Given the description of an element on the screen output the (x, y) to click on. 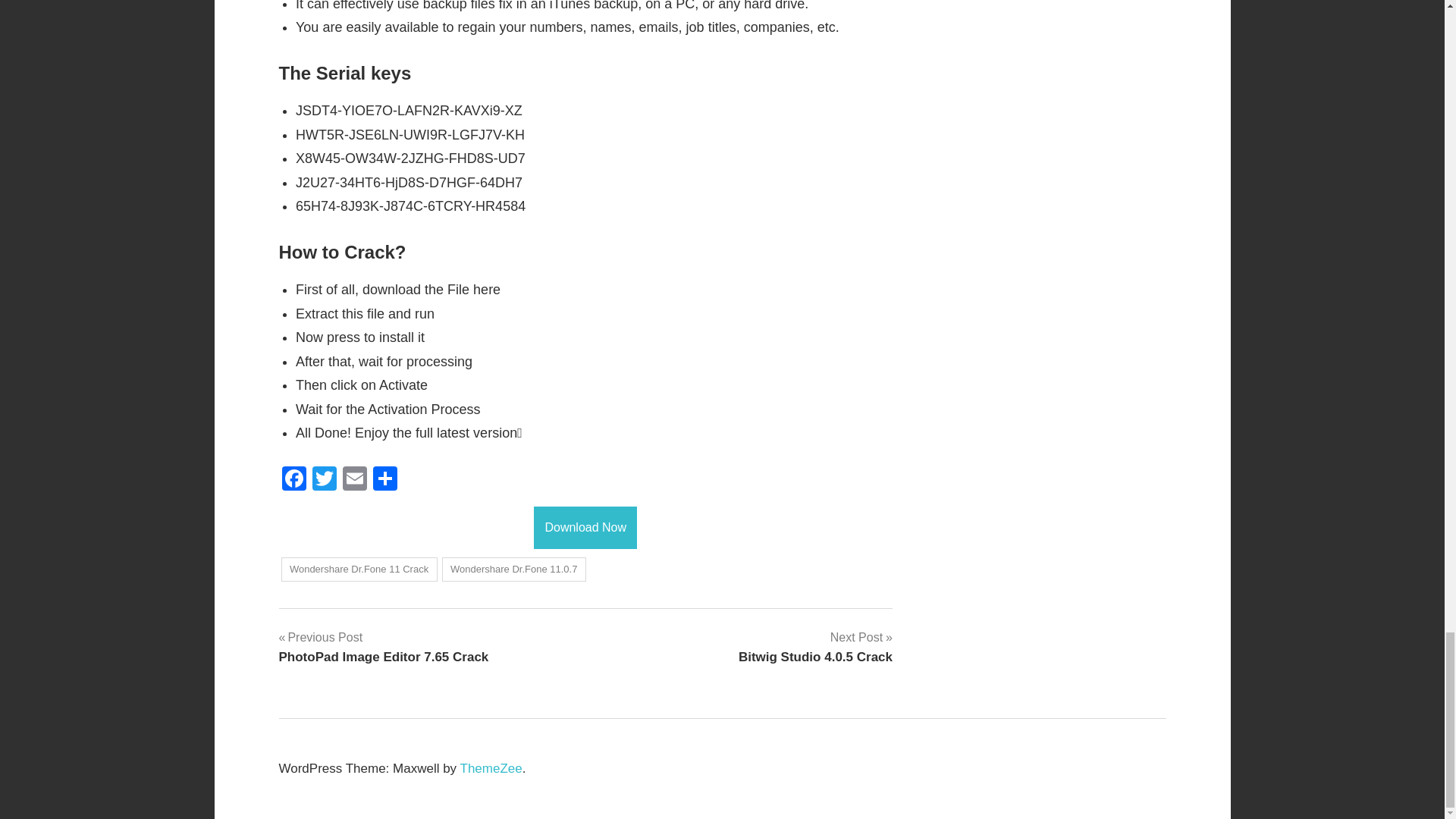
Download Now (585, 526)
Email (384, 646)
Share (354, 480)
Wondershare Dr.Fone 11.0.7 (384, 480)
Facebook (514, 569)
Email (293, 480)
Twitter (354, 480)
Twitter (323, 480)
